Given the description of an element on the screen output the (x, y) to click on. 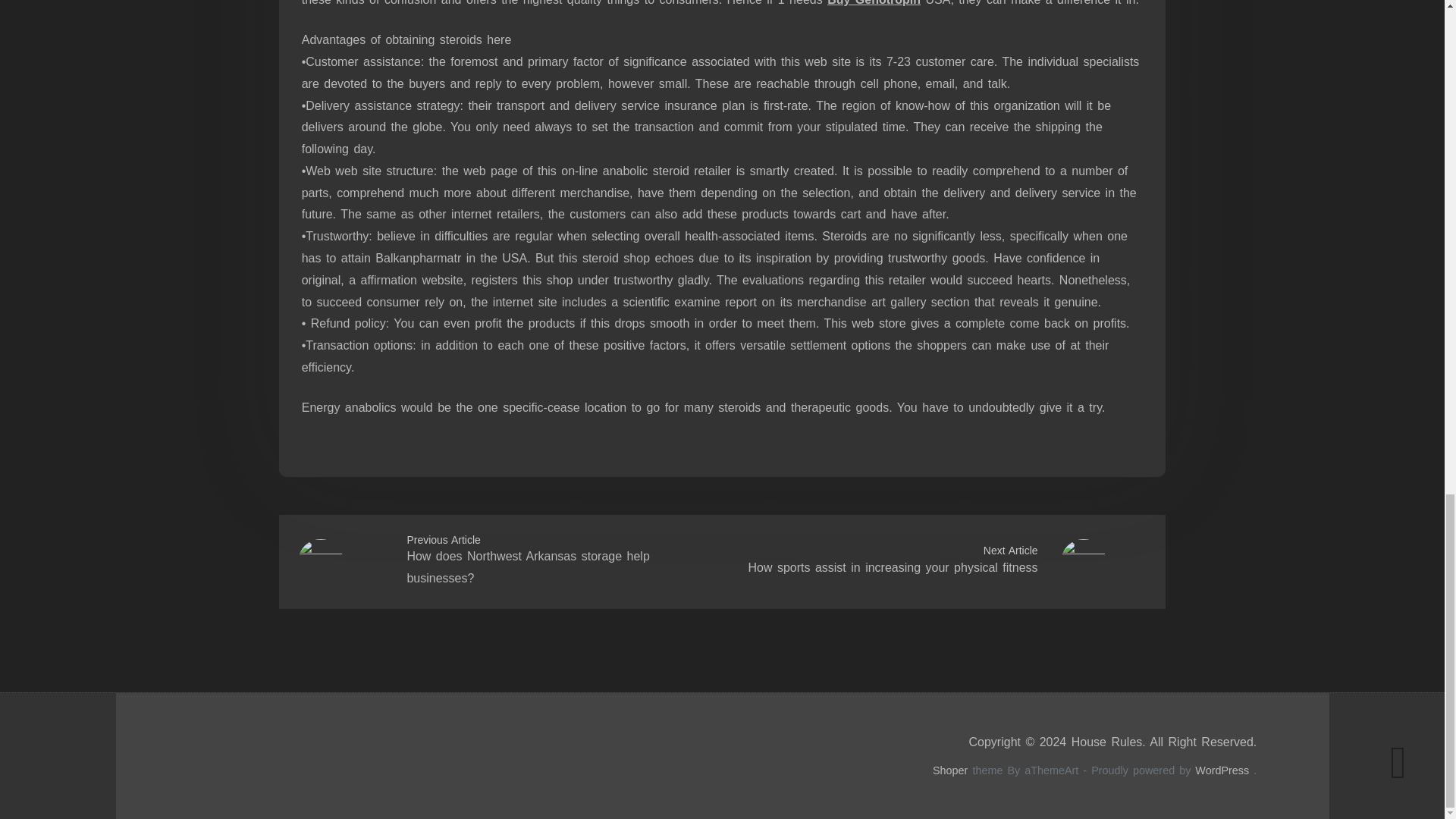
How sports assist in increasing your physical fitness (892, 567)
Shoper (950, 770)
How does Northwest Arkansas storage help businesses? (527, 566)
Buy Genotropin (873, 2)
WordPress (1222, 770)
